Given the description of an element on the screen output the (x, y) to click on. 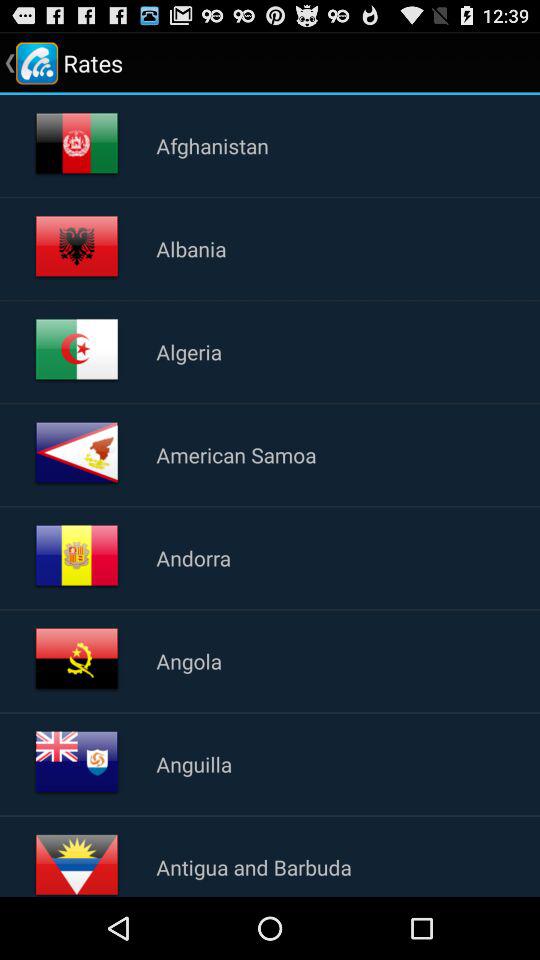
tap the item below algeria icon (236, 454)
